Given the description of an element on the screen output the (x, y) to click on. 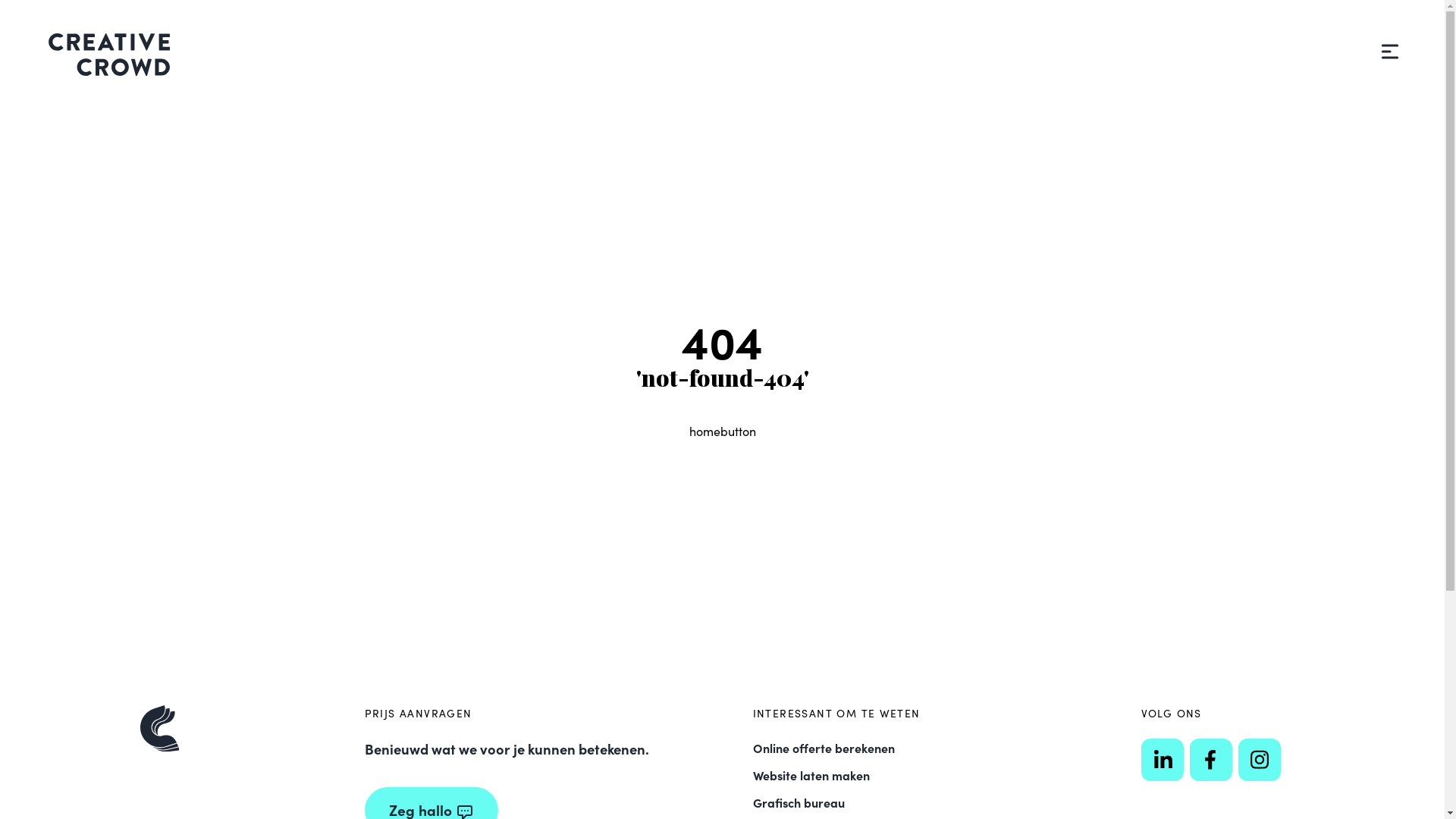
Grafisch bureau Element type: text (798, 801)
Online offerte berekenen Element type: text (823, 747)
Website laten maken Element type: text (810, 774)
Logo Creative Crowd Element type: hover (108, 54)
